Given the description of an element on the screen output the (x, y) to click on. 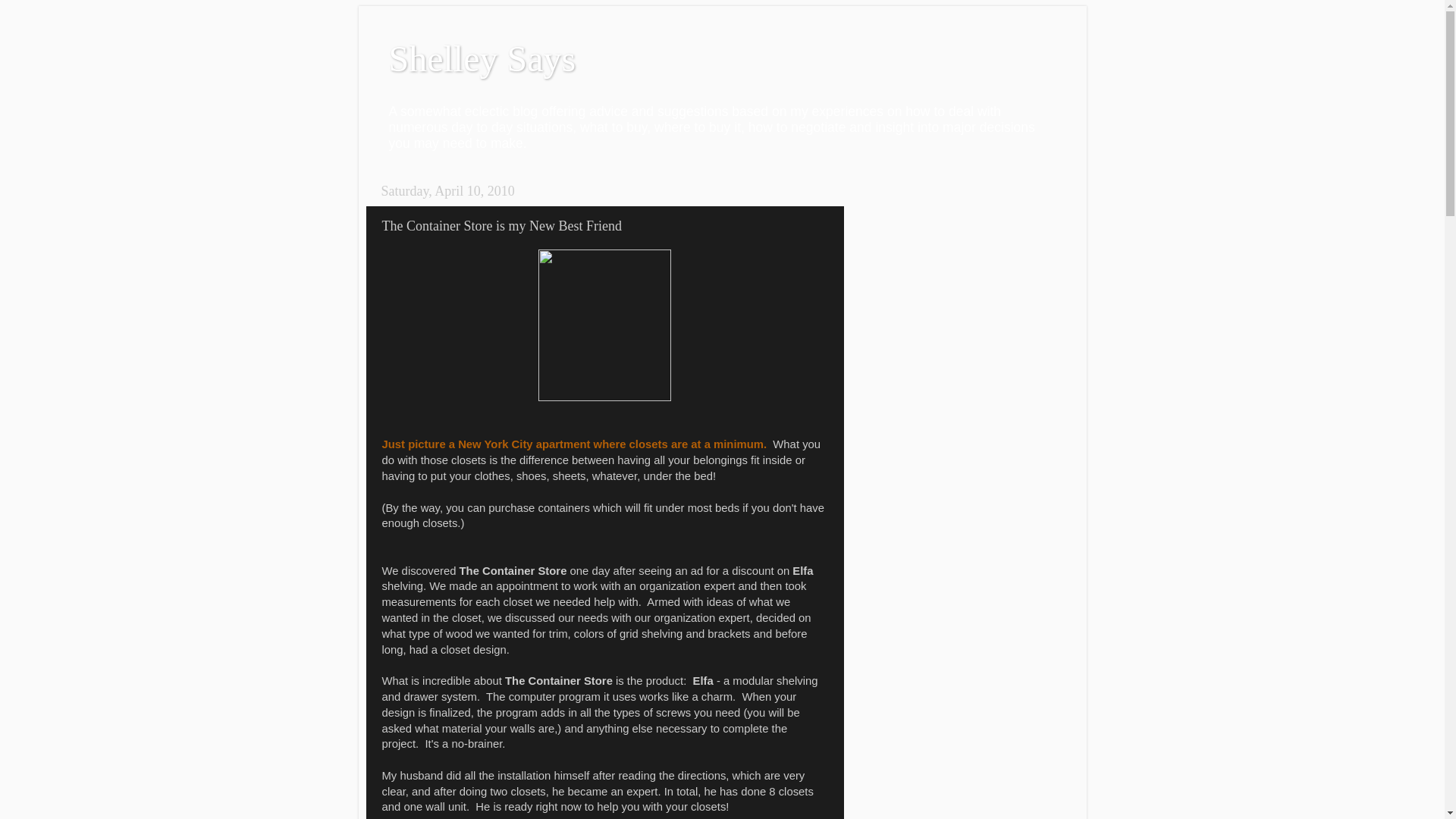
Shelley Says (481, 58)
